Given the description of an element on the screen output the (x, y) to click on. 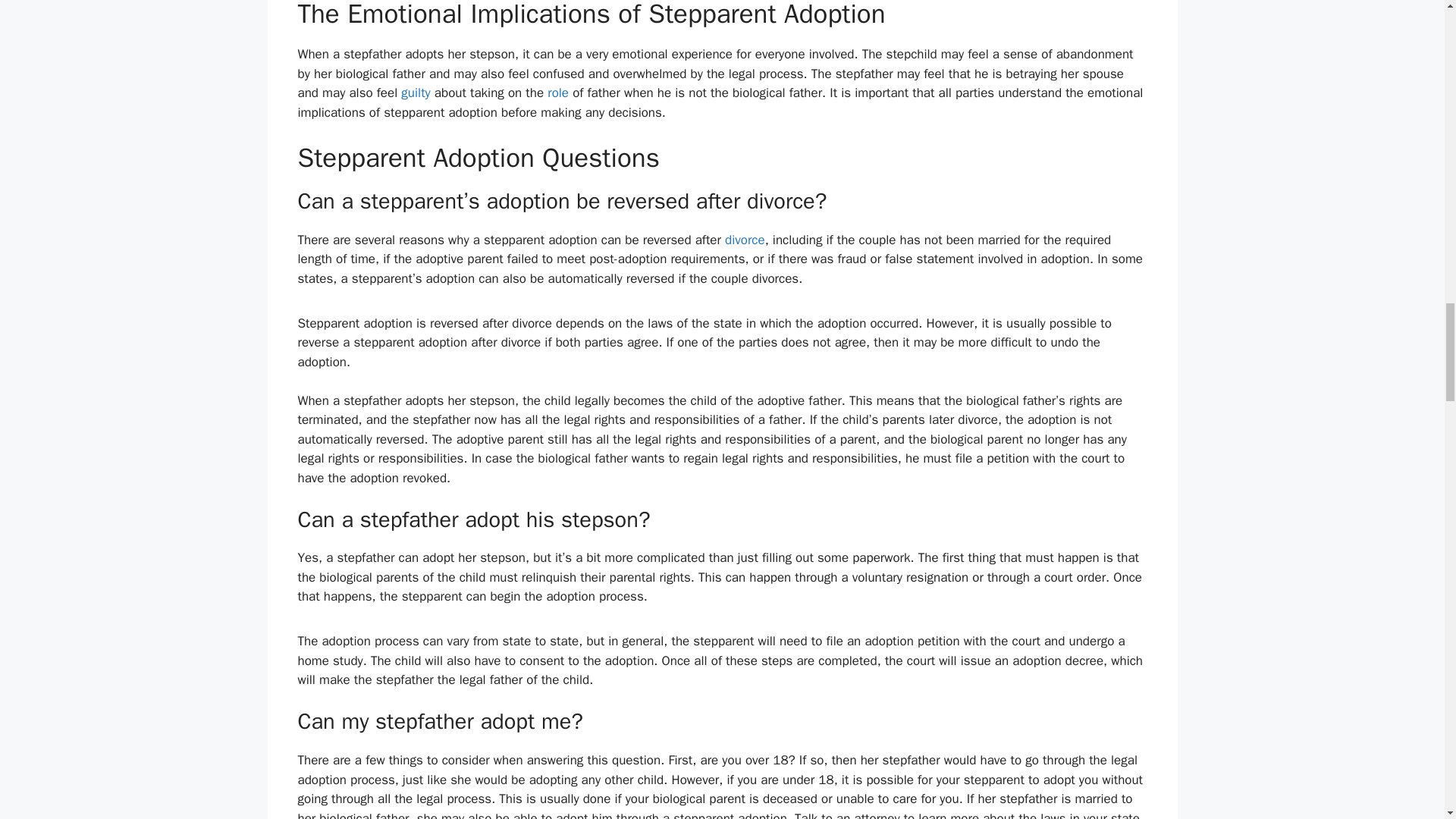
divorce (745, 239)
role (558, 92)
guilty (415, 92)
